Given the description of an element on the screen output the (x, y) to click on. 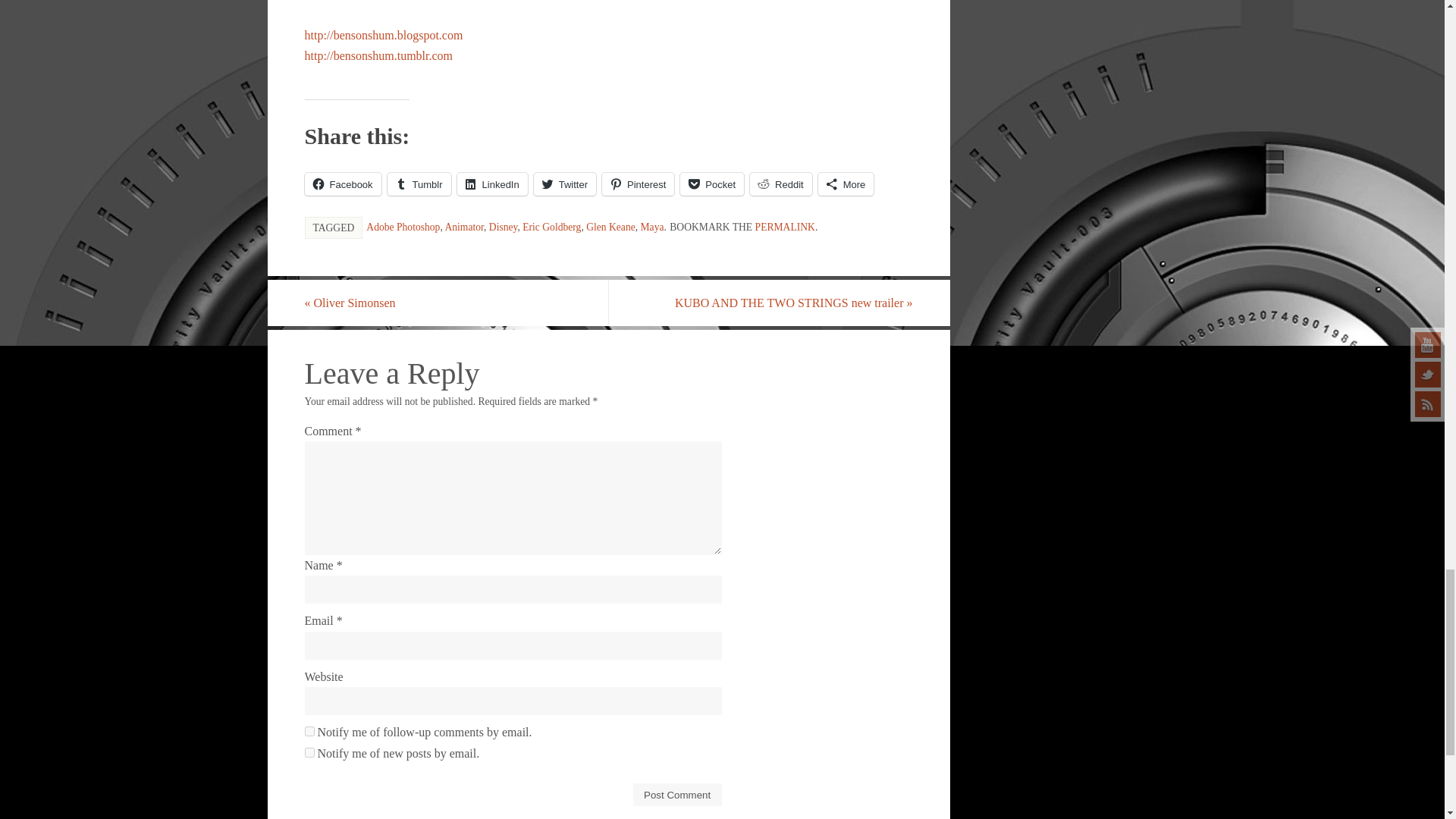
Facebook (342, 183)
Maya (651, 226)
Disney (503, 226)
Pocket (711, 183)
subscribe (309, 731)
Tumblr (419, 183)
LinkedIn (492, 183)
Post Comment (677, 793)
Animator (463, 226)
PERMALINK (785, 226)
